Given the description of an element on the screen output the (x, y) to click on. 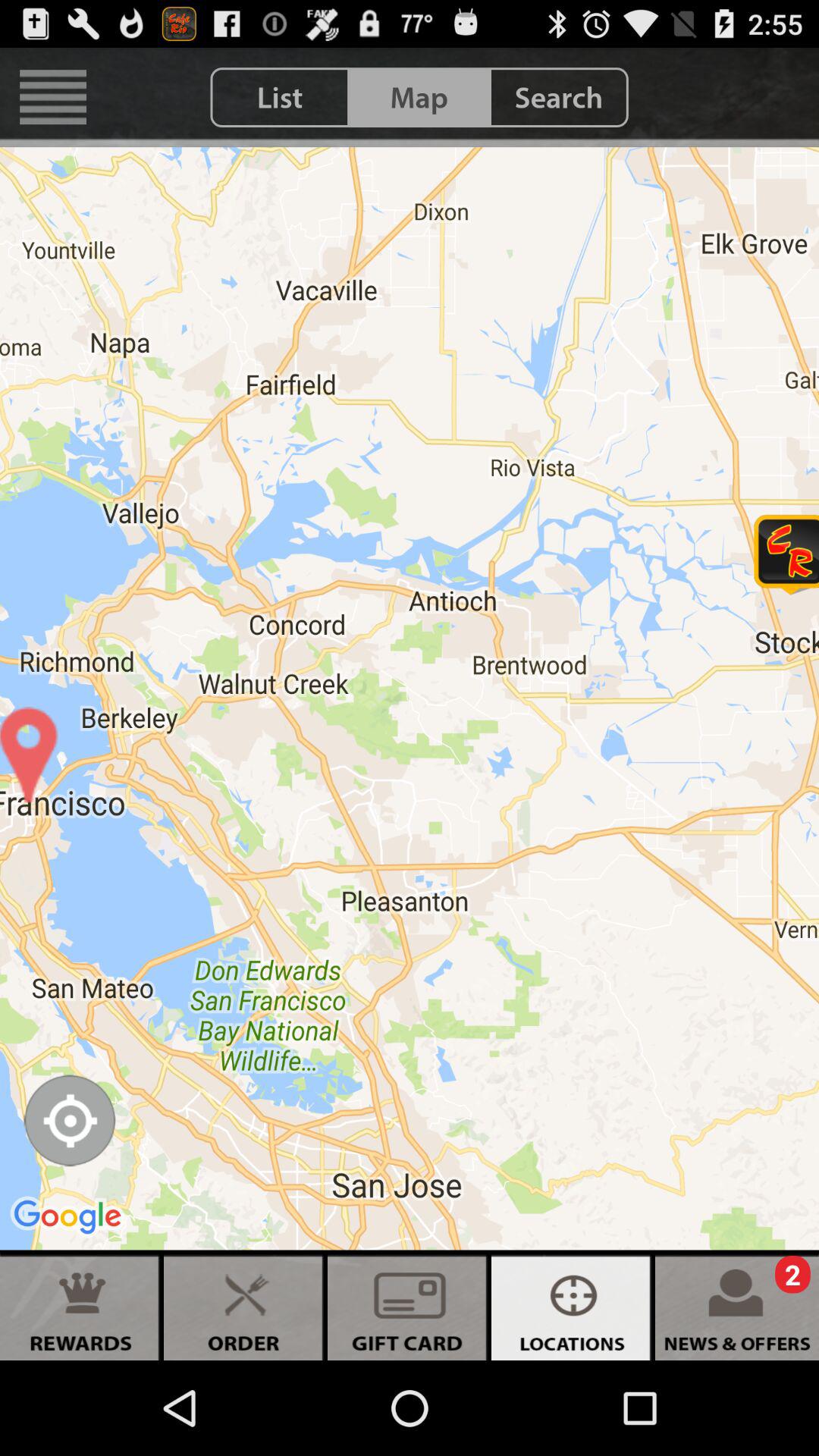
press the icon to the left of list (53, 96)
